Given the description of an element on the screen output the (x, y) to click on. 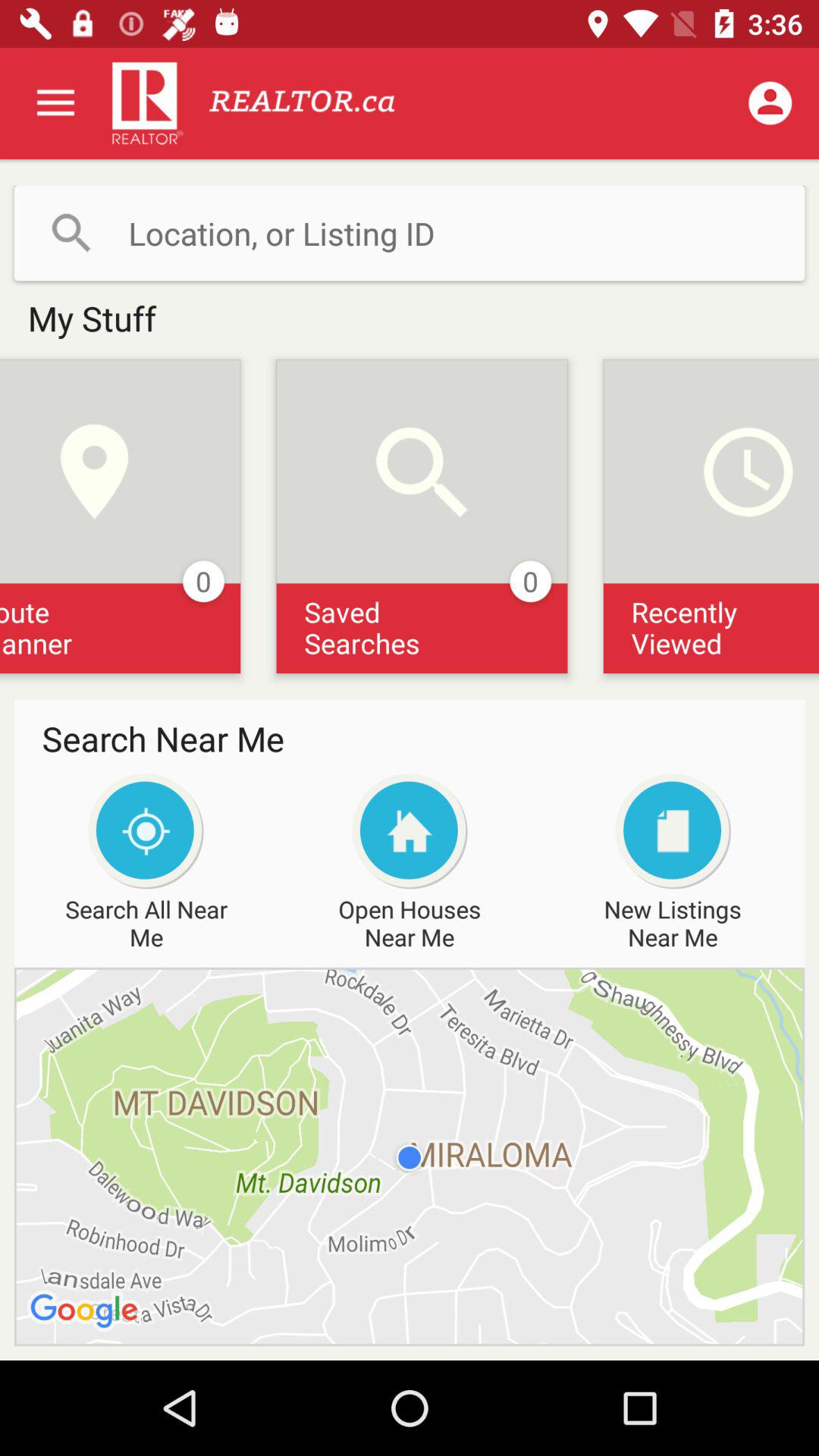
search (409, 232)
